Given the description of an element on the screen output the (x, y) to click on. 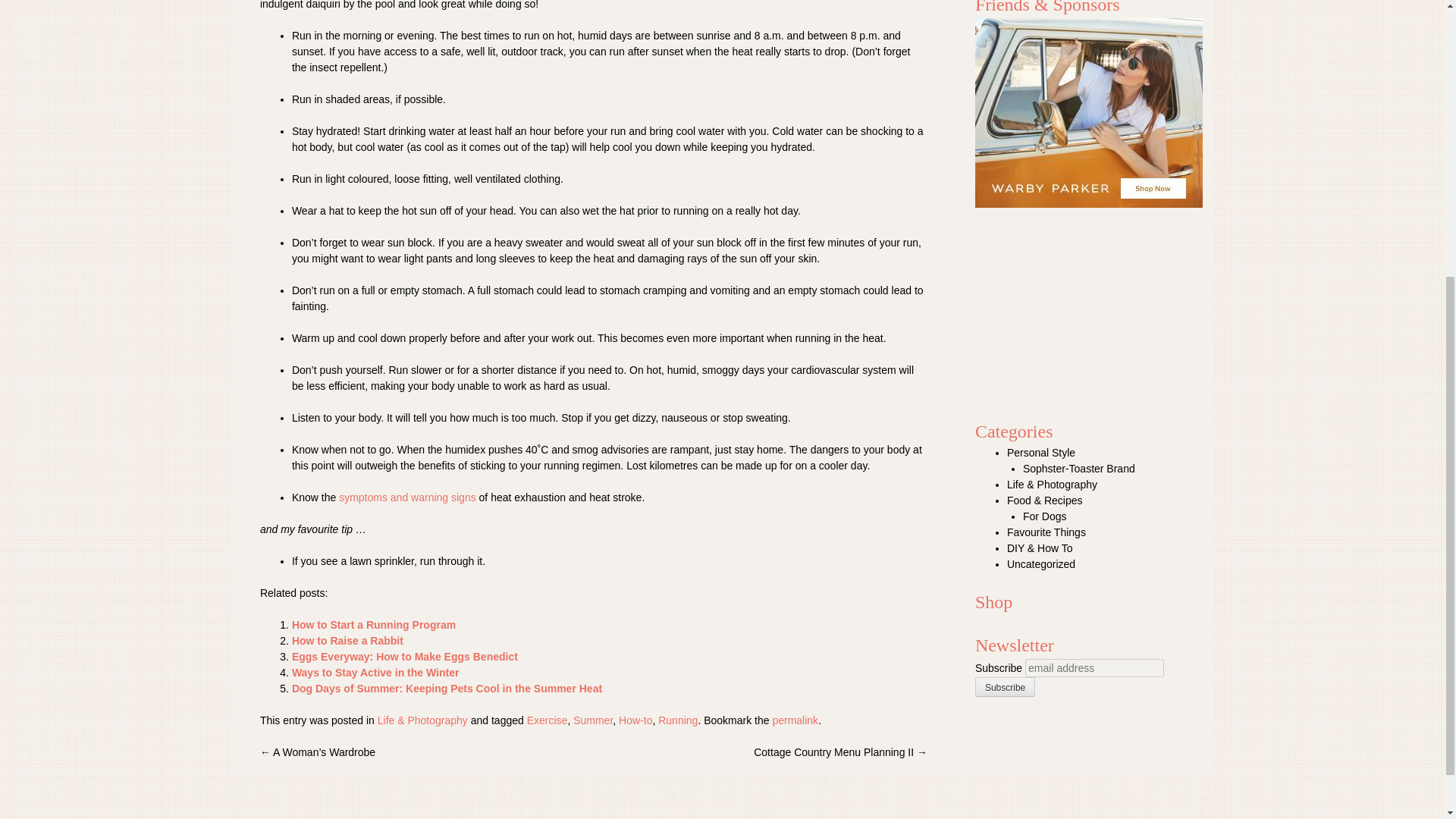
How to Raise a Rabbit (347, 640)
Dog Days of Summer: Keeping Pets Cool in the Summer Heat (447, 688)
permalink (794, 720)
Dog Days of Summer: Keeping Pets Cool in the Summer Heat (447, 688)
How-to (635, 720)
How to Raise a Rabbit (347, 640)
Eggs Everyway: How to Make Eggs Benedict (405, 656)
How to Start a Running Program (373, 624)
Uncategorized (1041, 563)
Advertisement (1093, 307)
Summer (592, 720)
symptoms and warning signs (407, 497)
Subscribe (1005, 686)
Ways to Stay Active in the Winter (376, 672)
How to Start a Running Program (373, 624)
